Given the description of an element on the screen output the (x, y) to click on. 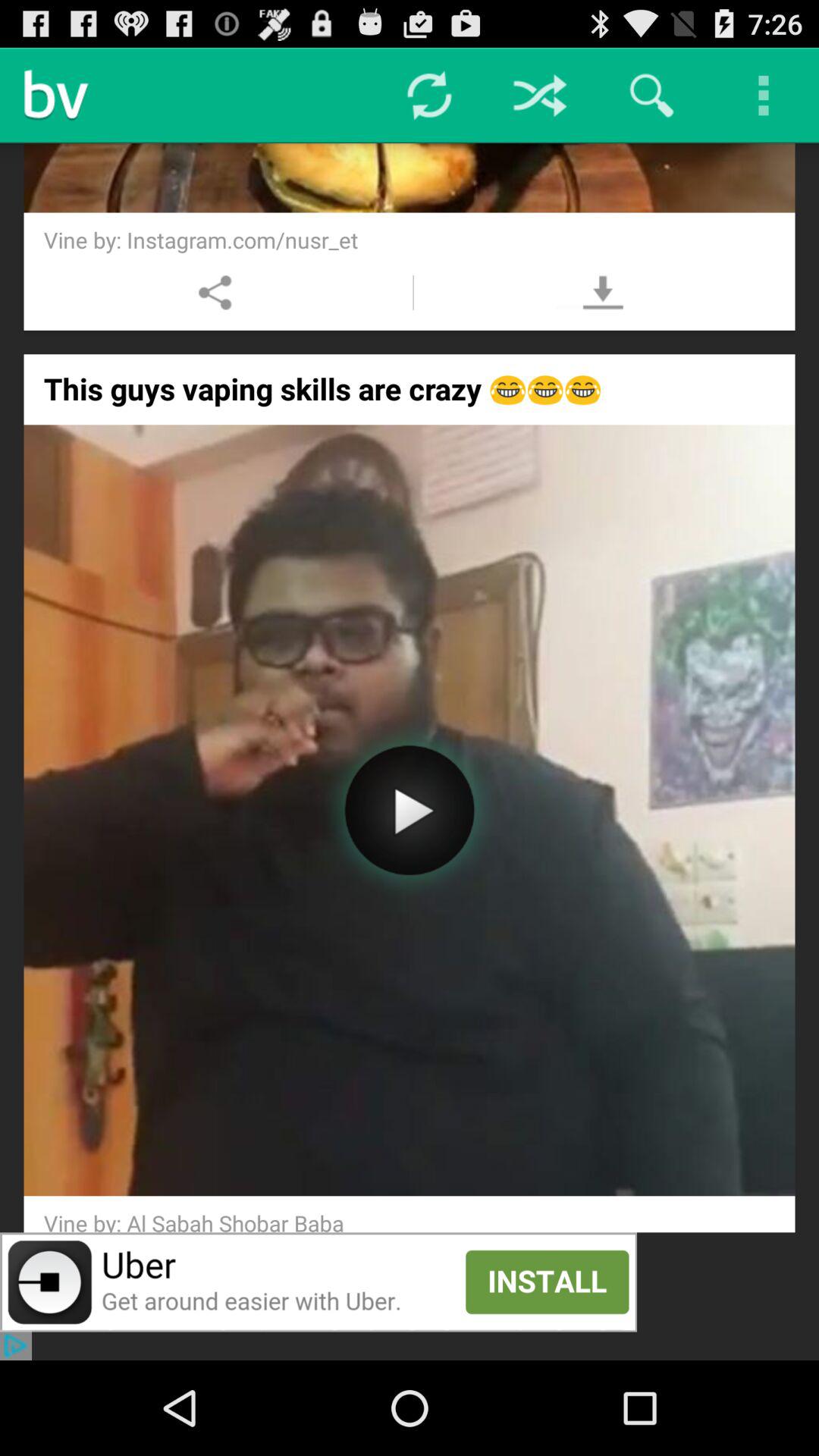
click to download (602, 292)
